Given the description of an element on the screen output the (x, y) to click on. 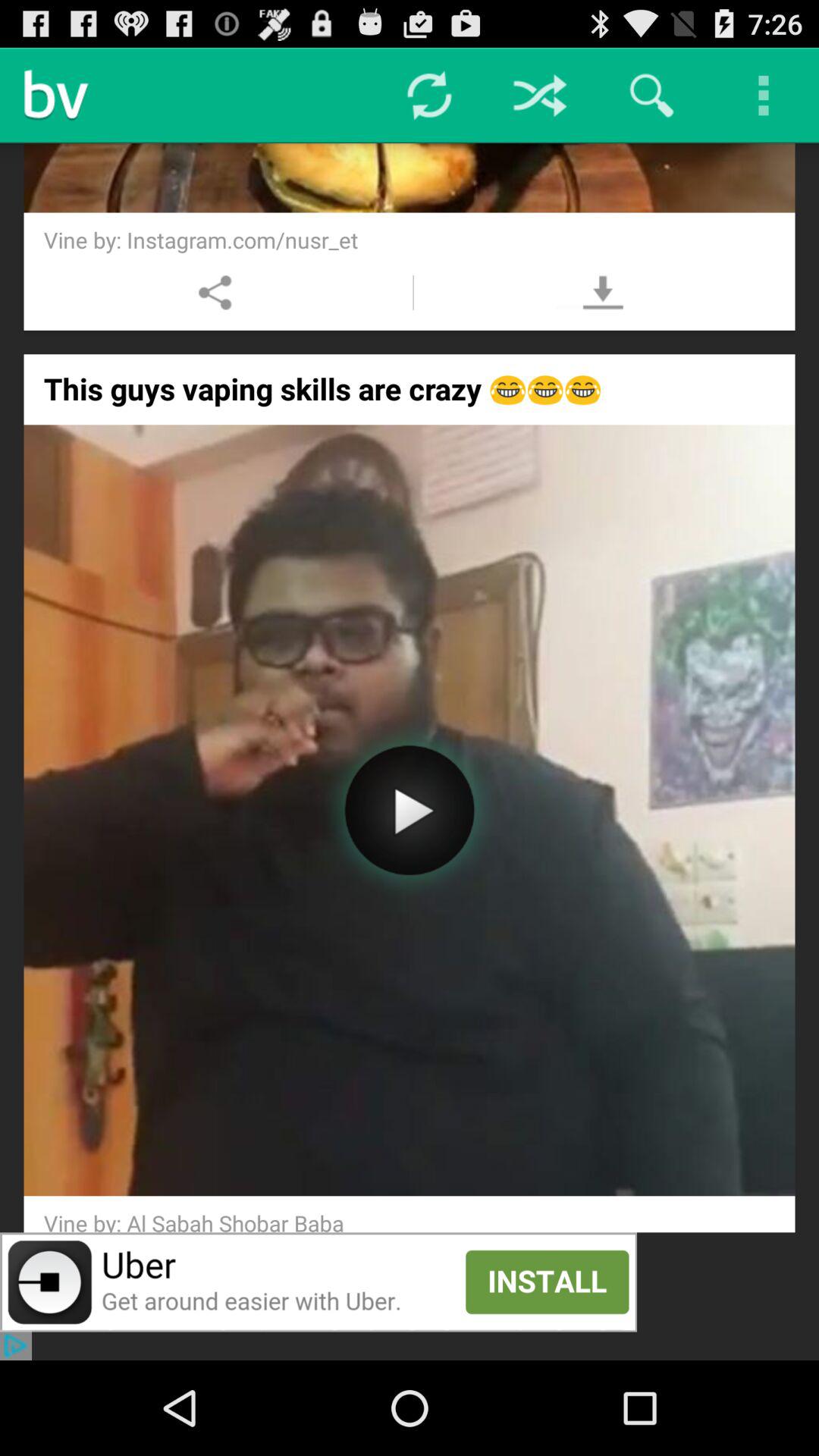
click to download (602, 292)
